Given the description of an element on the screen output the (x, y) to click on. 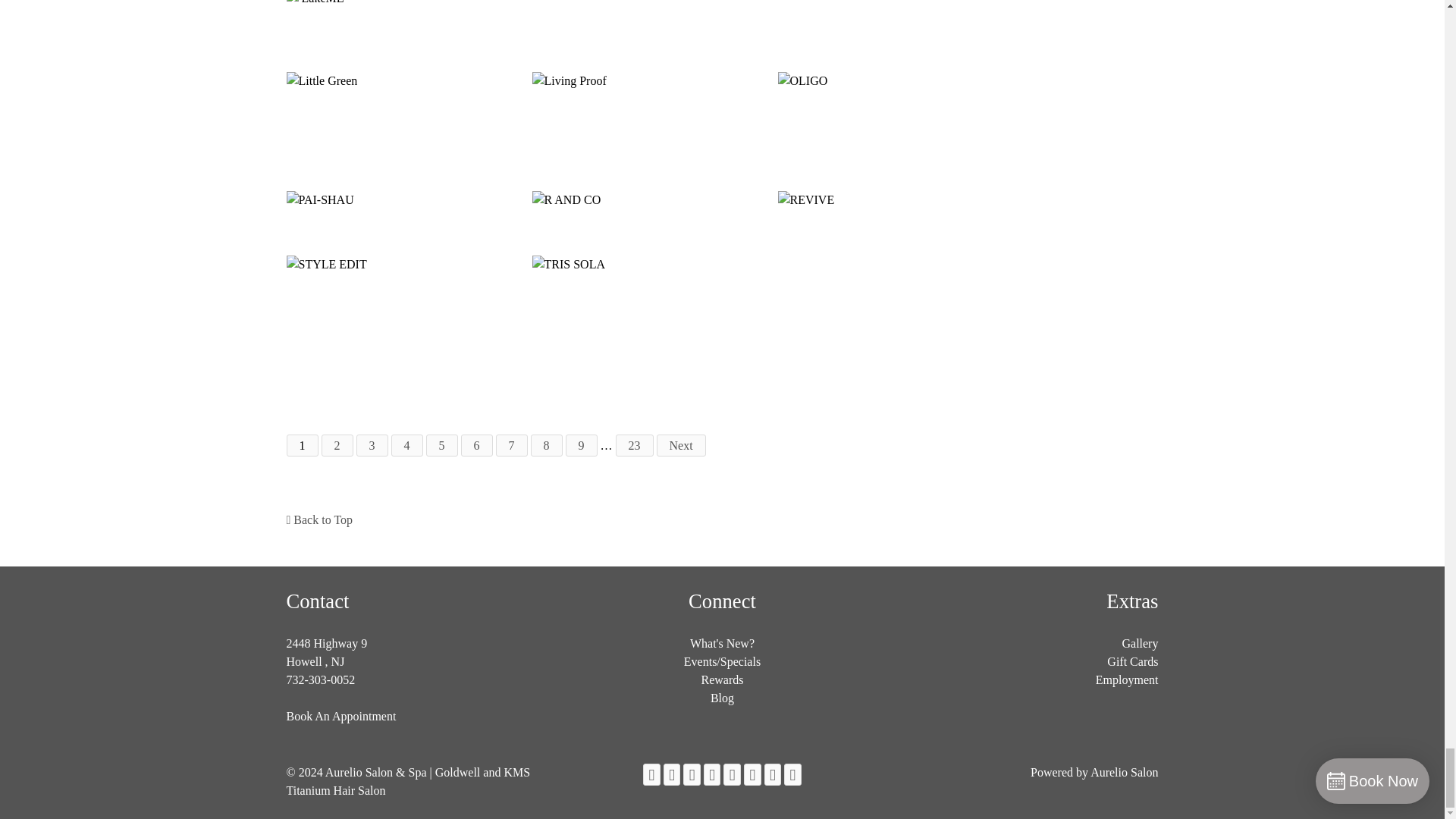
Aurelio Salon (1123, 771)
